Given the description of an element on the screen output the (x, y) to click on. 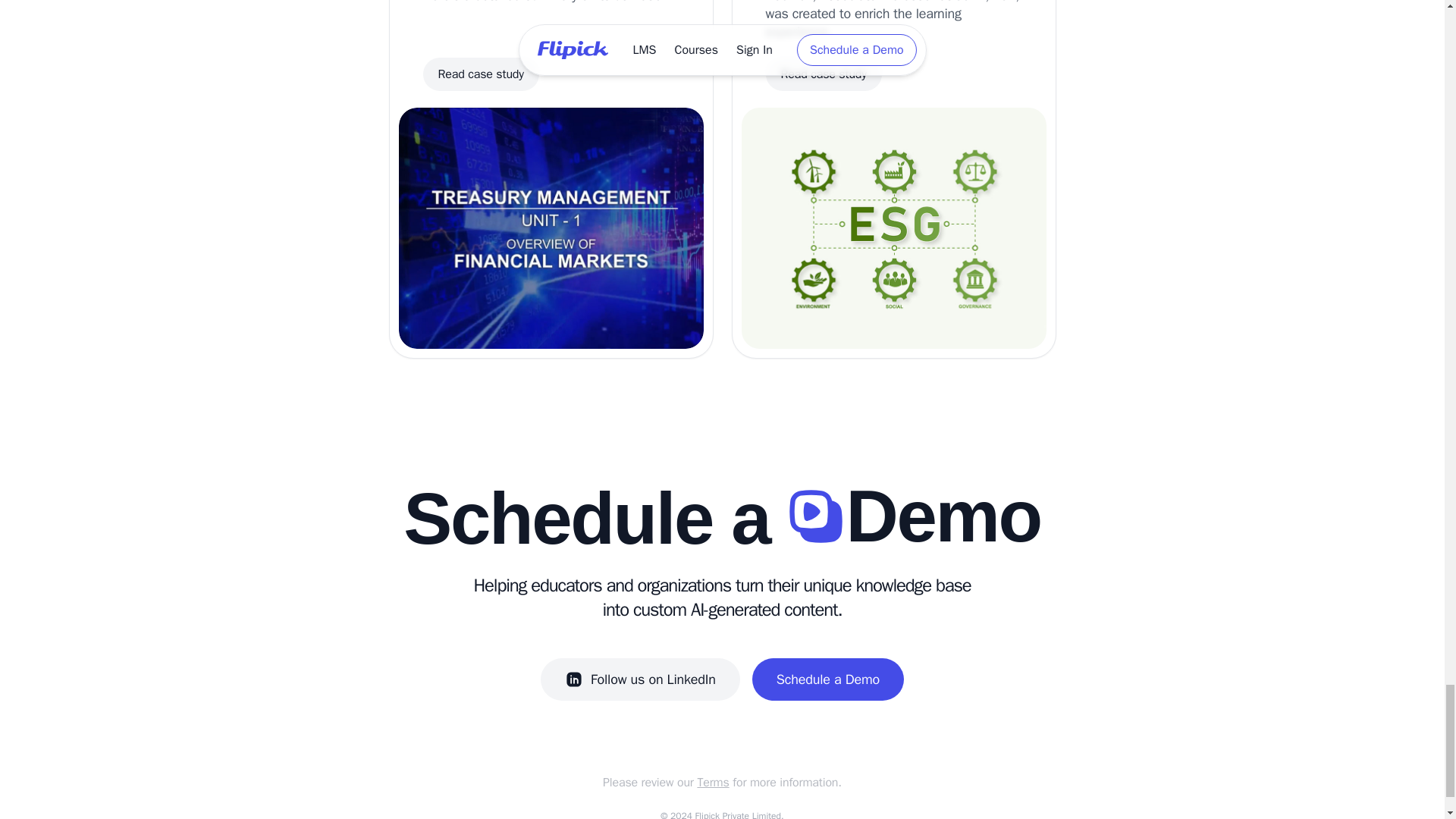
Schedule a Demo (828, 679)
Terms (713, 782)
Follow us on LinkedIn (639, 679)
Read case study (480, 73)
Read case study (823, 73)
